Given the description of an element on the screen output the (x, y) to click on. 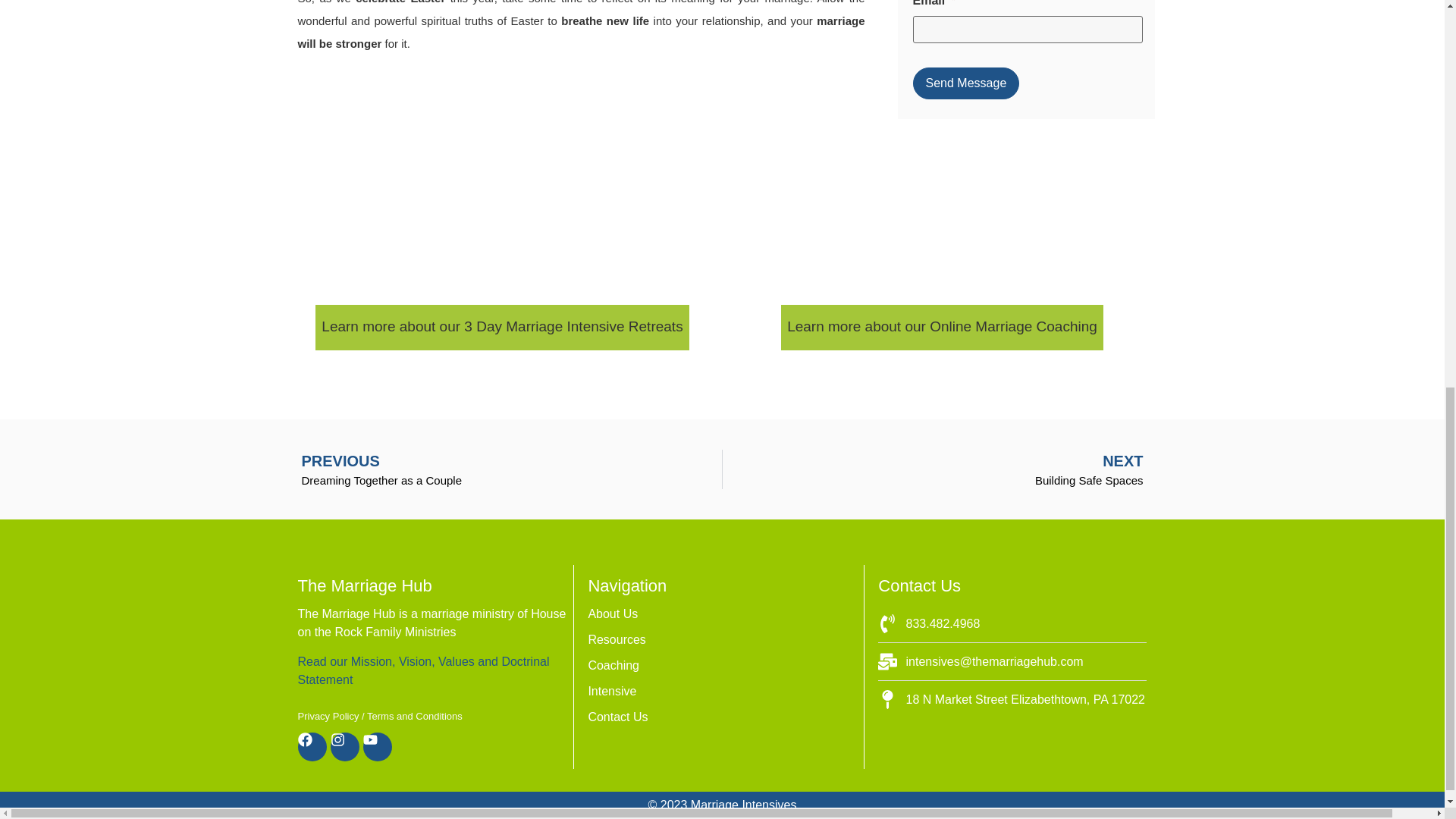
Send Message (938, 469)
Coaching (966, 83)
Intensive (722, 665)
About Us (722, 691)
Resources (505, 469)
Read our Mission, Vision, Values and Doctrinal Statement (722, 614)
Send Message (722, 639)
Contact Us (422, 670)
